Given the description of an element on the screen output the (x, y) to click on. 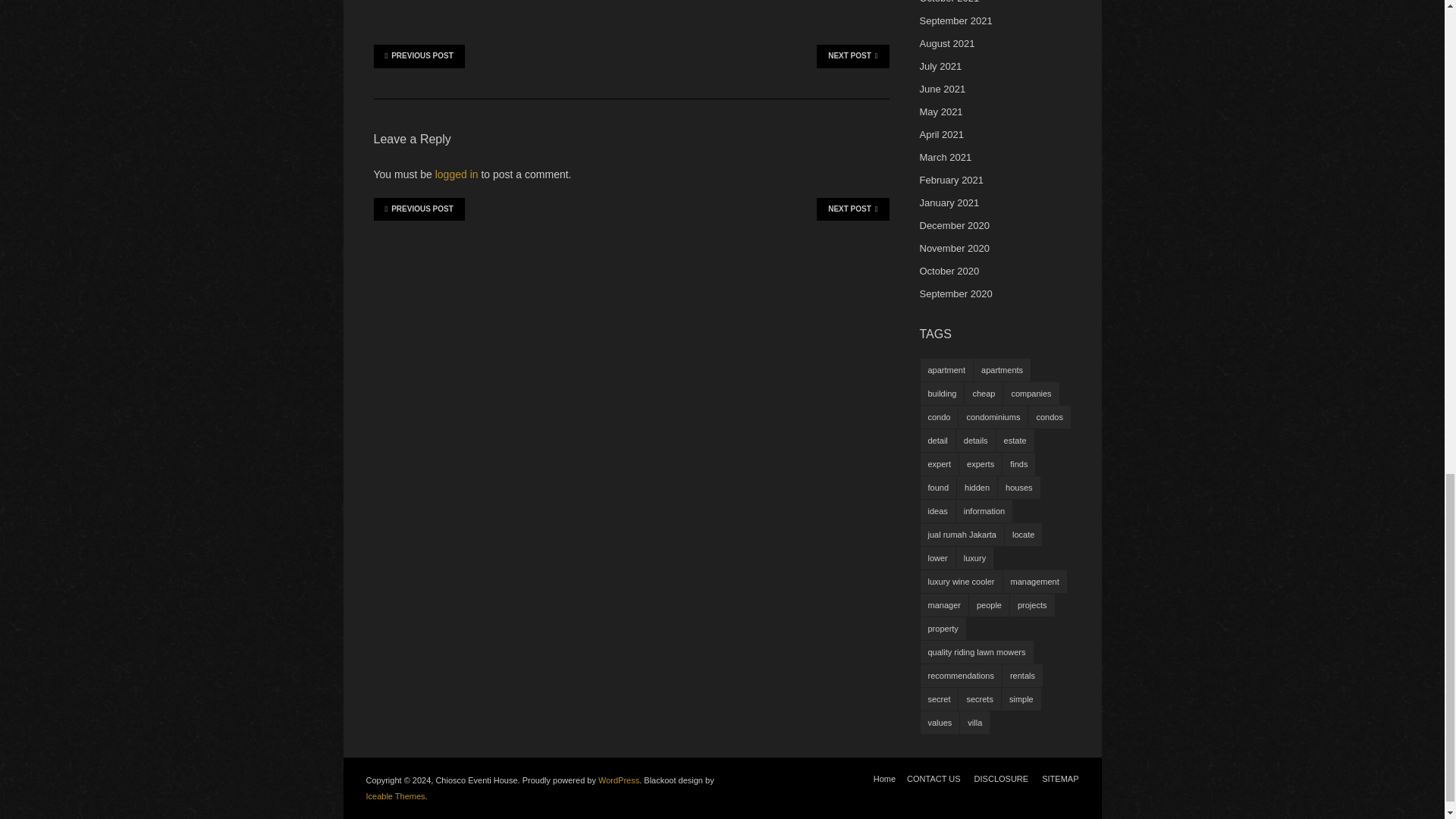
September 2021 (954, 20)
Semantic Personal Publishing Platform (618, 779)
August 2021 (946, 43)
NEXT POST (852, 209)
NEXT POST (852, 56)
PREVIOUS POST (418, 56)
PREVIOUS POST (418, 209)
October 2021 (948, 2)
logged in (457, 174)
Free and Premium WordPress Themes (395, 795)
